Given the description of an element on the screen output the (x, y) to click on. 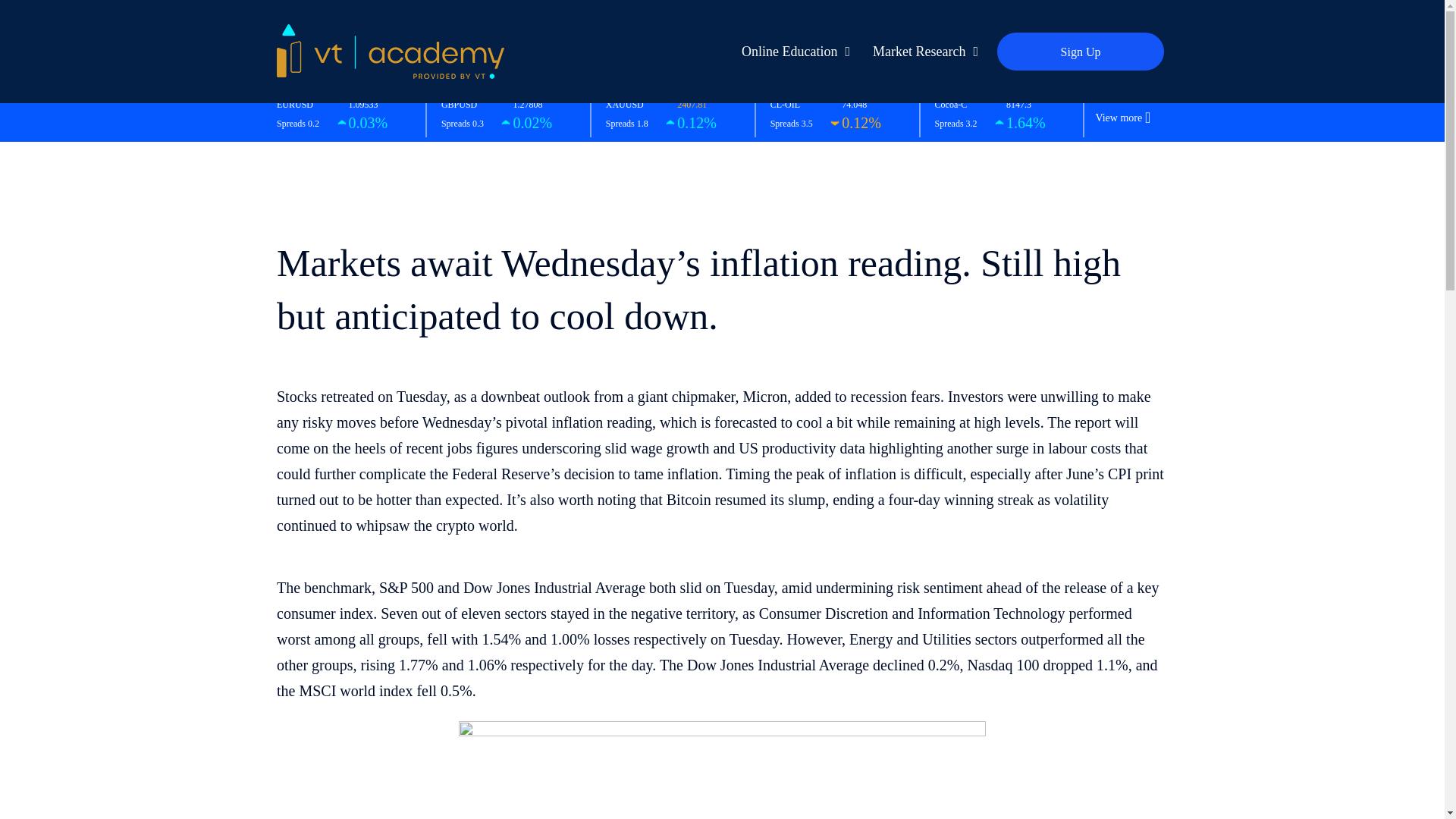
VT Academy (389, 49)
Market Research (921, 51)
Sign Up (1080, 51)
View more (1117, 117)
Online Education (791, 51)
